Given the description of an element on the screen output the (x, y) to click on. 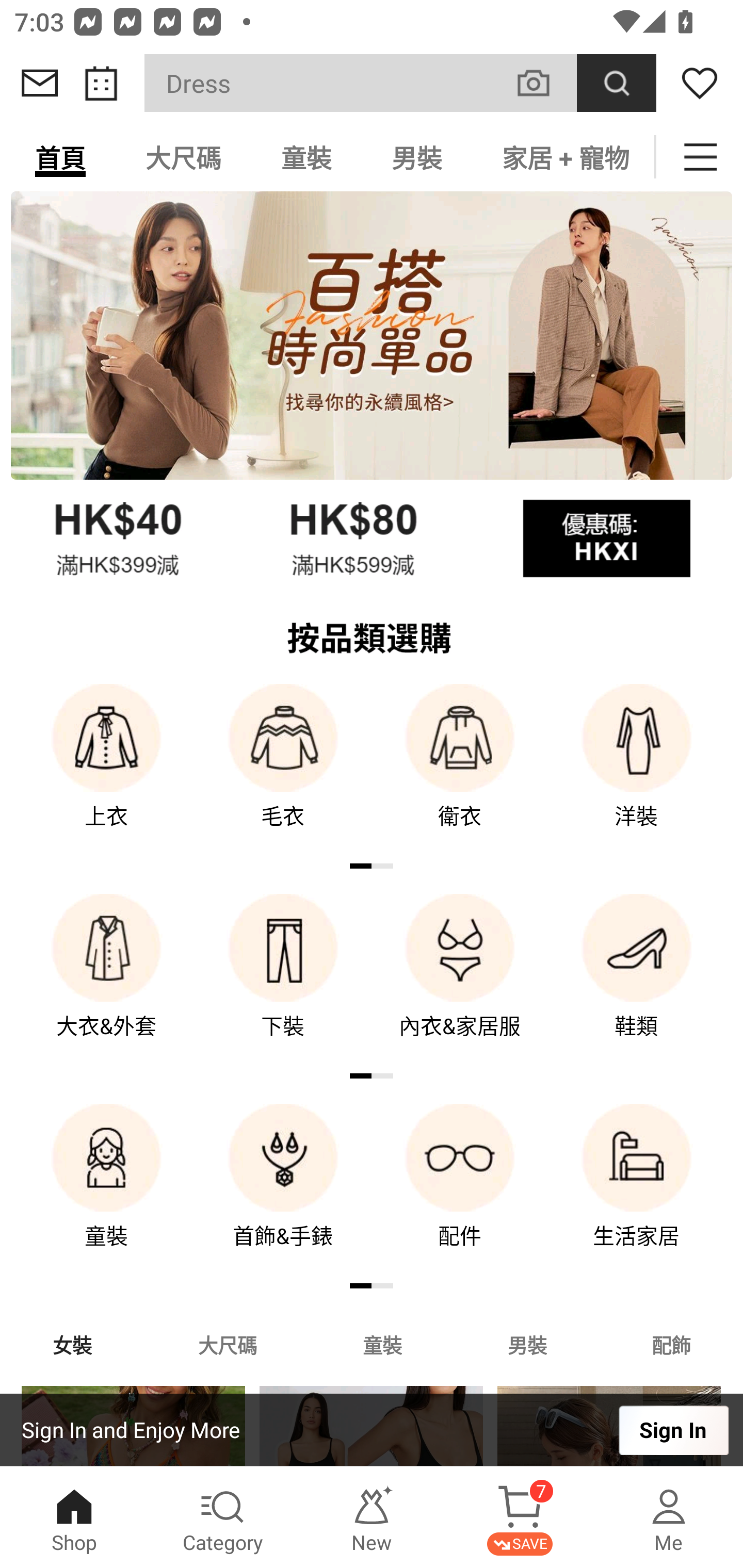
Wishlist (699, 82)
VISUAL SEARCH (543, 82)
首頁 (60, 156)
大尺碼 (183, 156)
童裝 (306, 156)
男裝 (416, 156)
家居 + 寵物 (563, 156)
上衣 (105, 769)
毛衣 (282, 769)
衛衣 (459, 769)
洋裝 (636, 769)
大衣&外套 (105, 979)
下裝 (282, 979)
內衣&家居服 (459, 979)
鞋類 (636, 979)
童裝 (105, 1189)
首飾&手錶 (282, 1189)
配件 (459, 1189)
生活家居 (636, 1189)
女裝 (72, 1344)
大尺碼 (226, 1344)
童裝 (381, 1344)
男裝 (527, 1344)
配飾 (671, 1344)
Sign In and Enjoy More Sign In (371, 1429)
Category (222, 1517)
New (371, 1517)
Cart 7 SAVE (519, 1517)
Me (668, 1517)
